Given the description of an element on the screen output the (x, y) to click on. 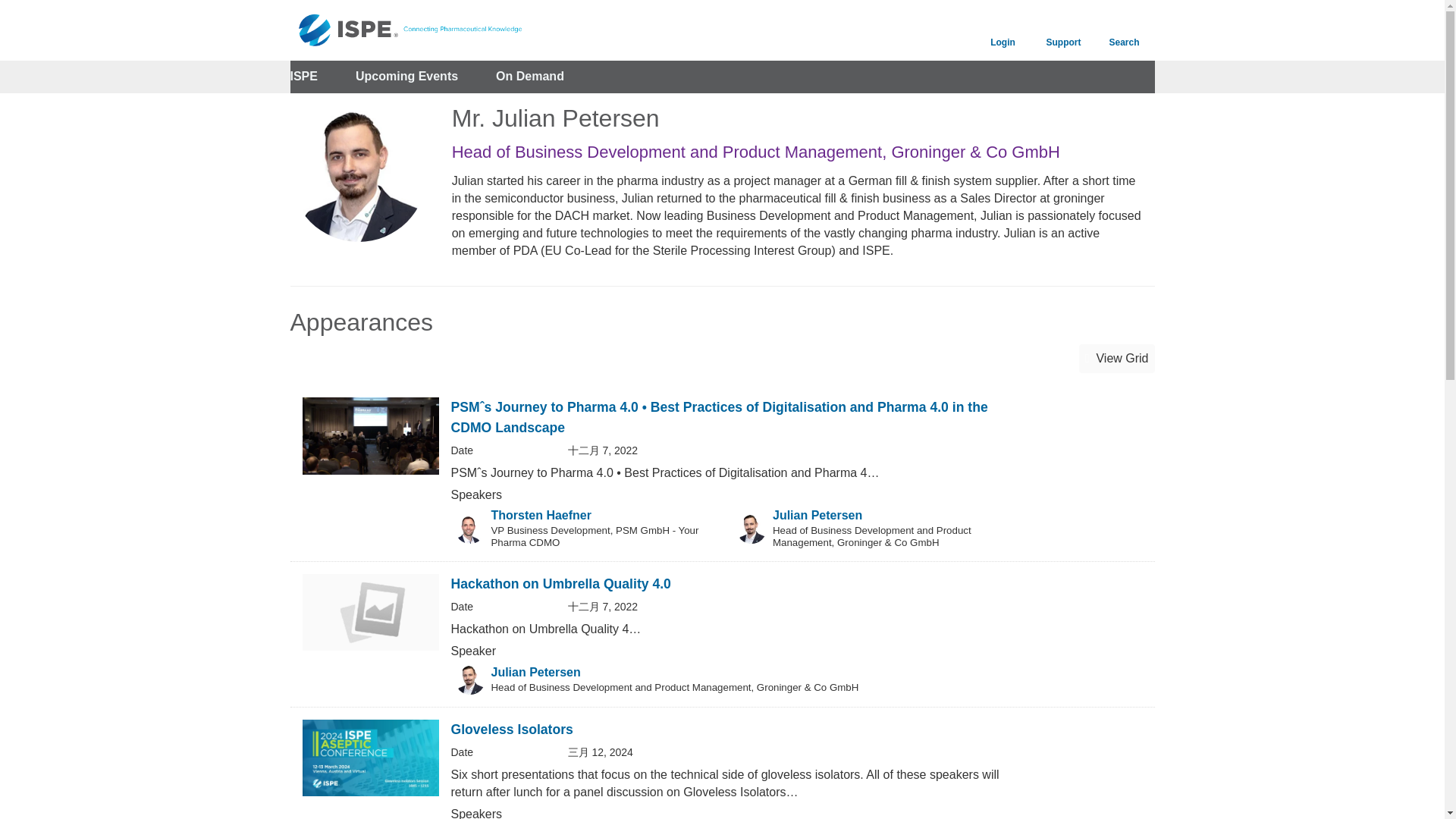
Speaker Image for Julian Petersen (469, 679)
ISPE (303, 76)
Thorsten Haefner (541, 514)
Speaker Image for Julian Petersen (751, 528)
Hackathon on Umbrella Quality 4.0 (559, 583)
Search (1123, 30)
Julian Petersen (536, 671)
Support (1062, 30)
Login (1002, 30)
Support (1062, 30)
